Given the description of an element on the screen output the (x, y) to click on. 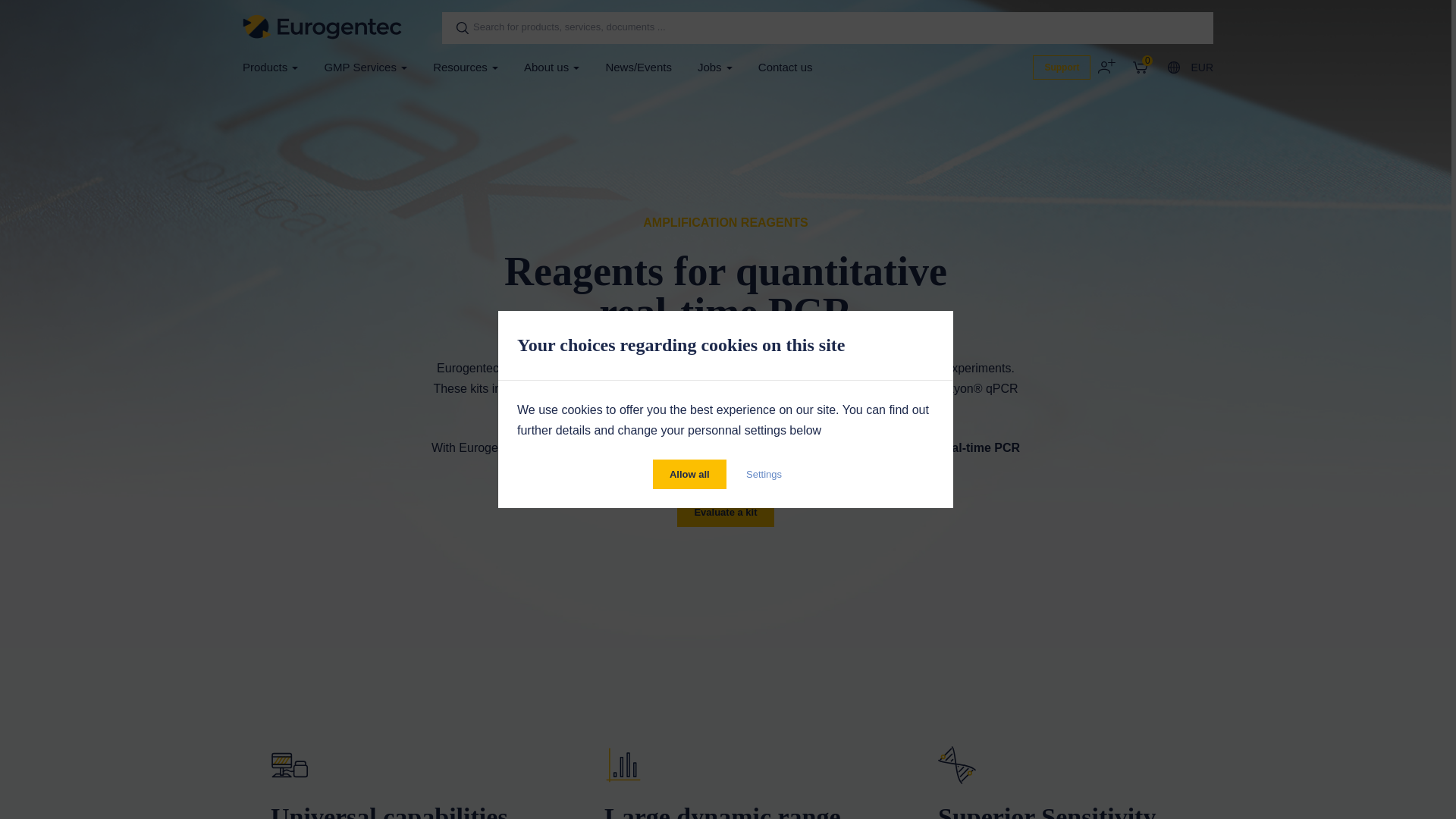
Products (270, 66)
Evaluate a kit (725, 514)
OK (458, 27)
